Given the description of an element on the screen output the (x, y) to click on. 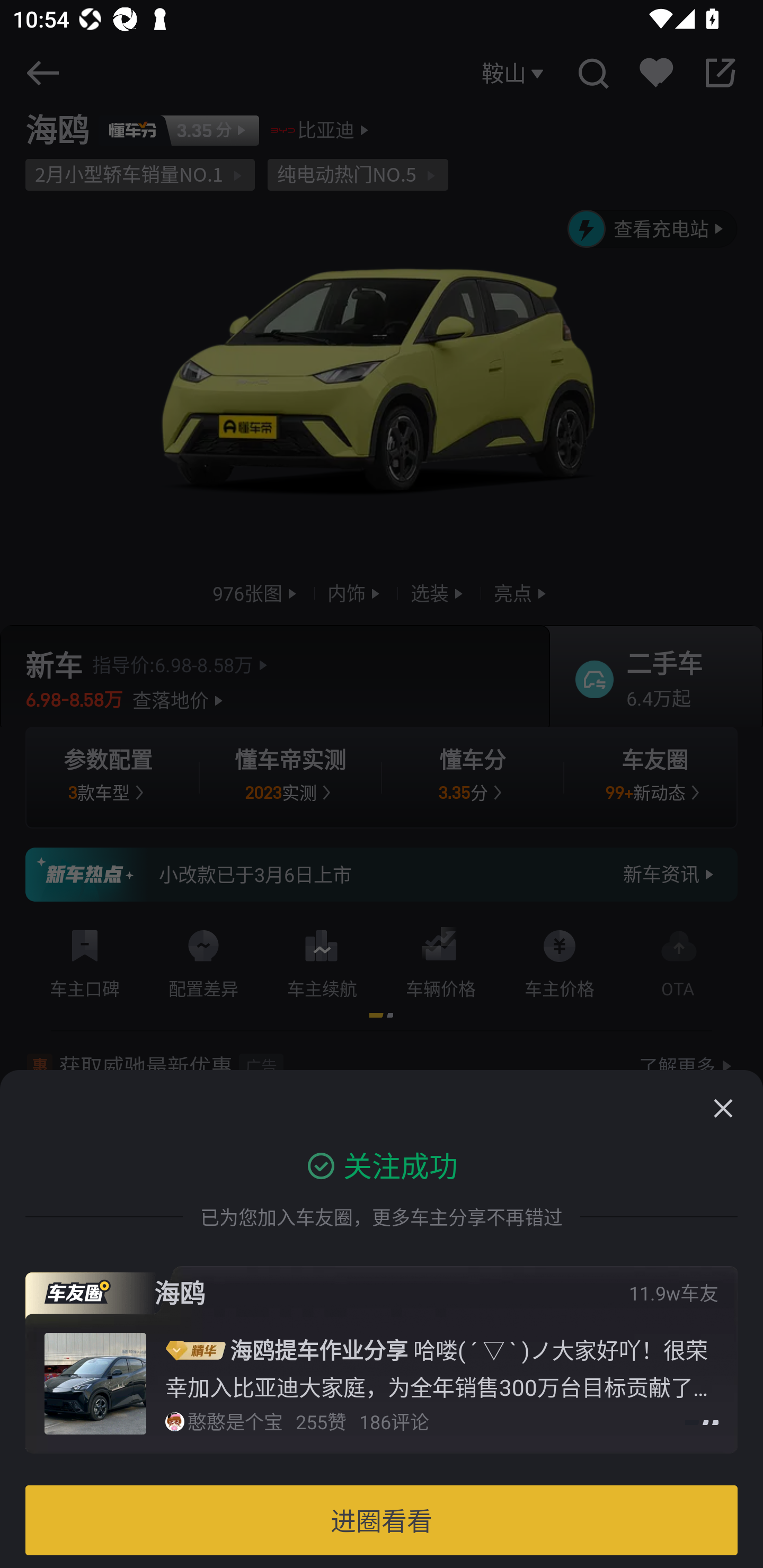
 (722, 1108)
进圈看看 (381, 1519)
